Given the description of an element on the screen output the (x, y) to click on. 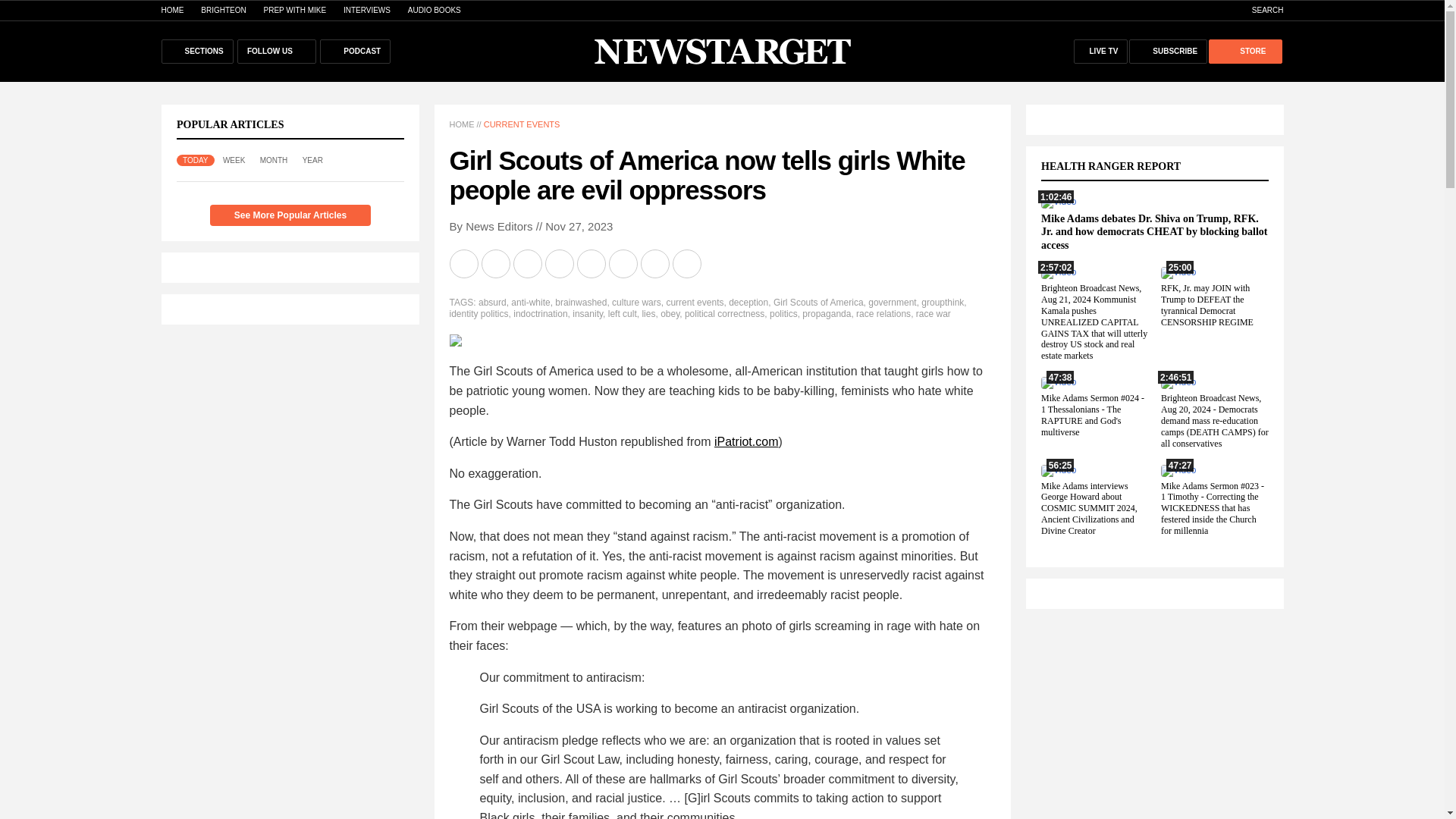
56:25 (1058, 470)
SEARCH (1260, 9)
2:46:51 (1177, 381)
2:57:02 (1058, 271)
CURRENT EVENTS (521, 123)
PODCAST (355, 51)
Share on Twitter (528, 263)
1:02:46 (1058, 201)
STORE (1244, 51)
See More Popular Articles (289, 215)
